Given the description of an element on the screen output the (x, y) to click on. 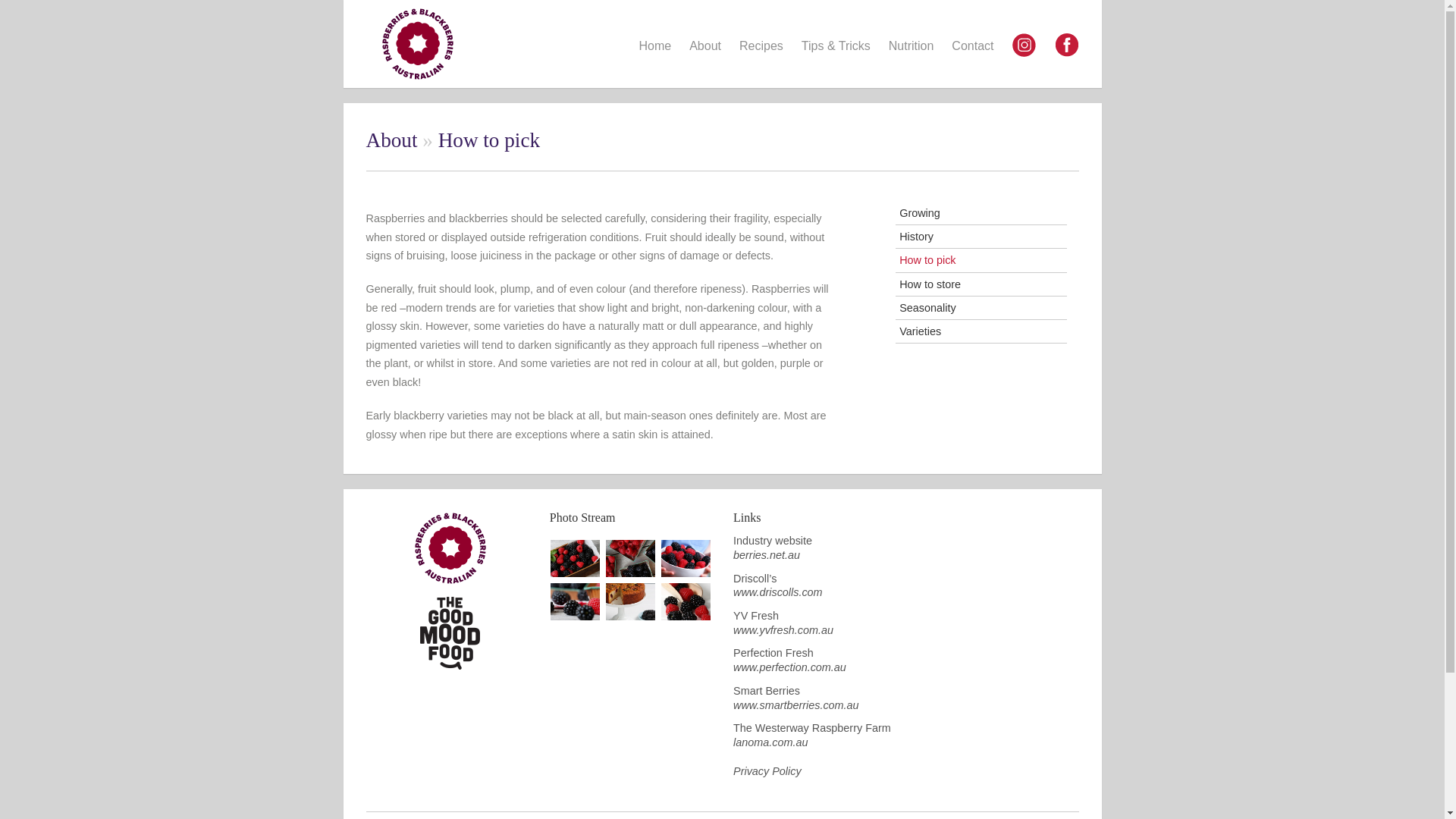
Contact (972, 45)
www.perfection.com.au (789, 666)
www.driscolls.com (777, 592)
History (916, 236)
Recipes (761, 45)
Growing (919, 213)
